Given the description of an element on the screen output the (x, y) to click on. 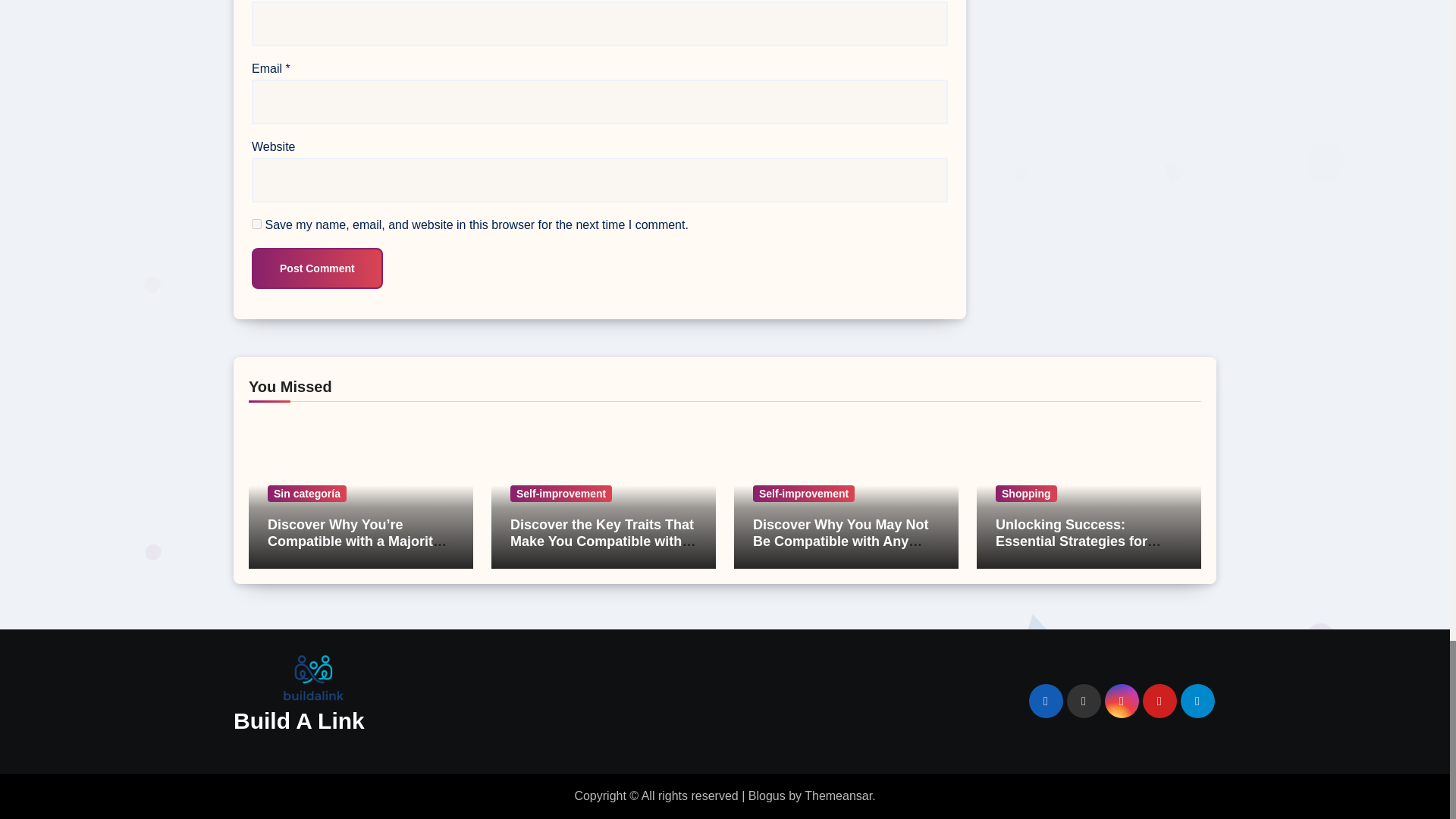
yes (256, 224)
Post Comment (316, 268)
